Given the description of an element on the screen output the (x, y) to click on. 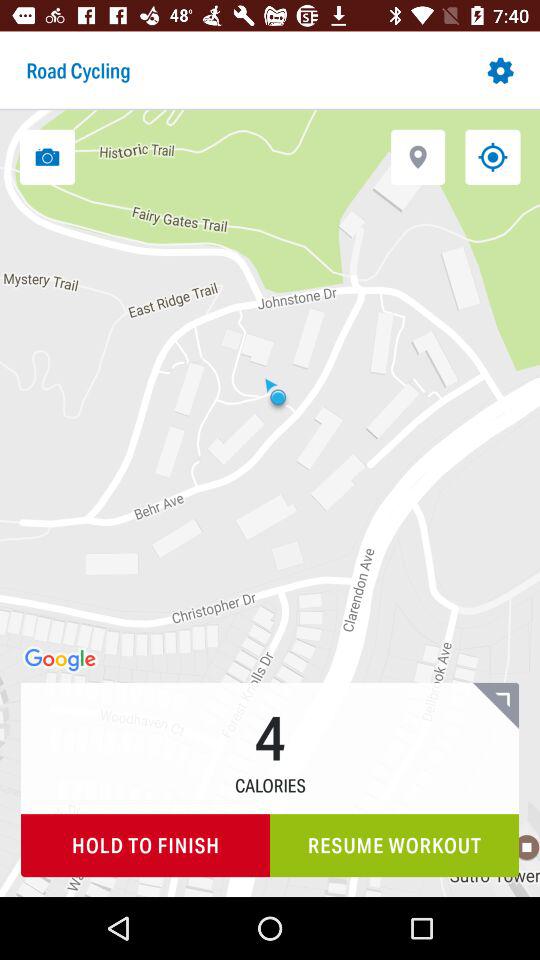
select icon at the top left corner (47, 156)
